Given the description of an element on the screen output the (x, y) to click on. 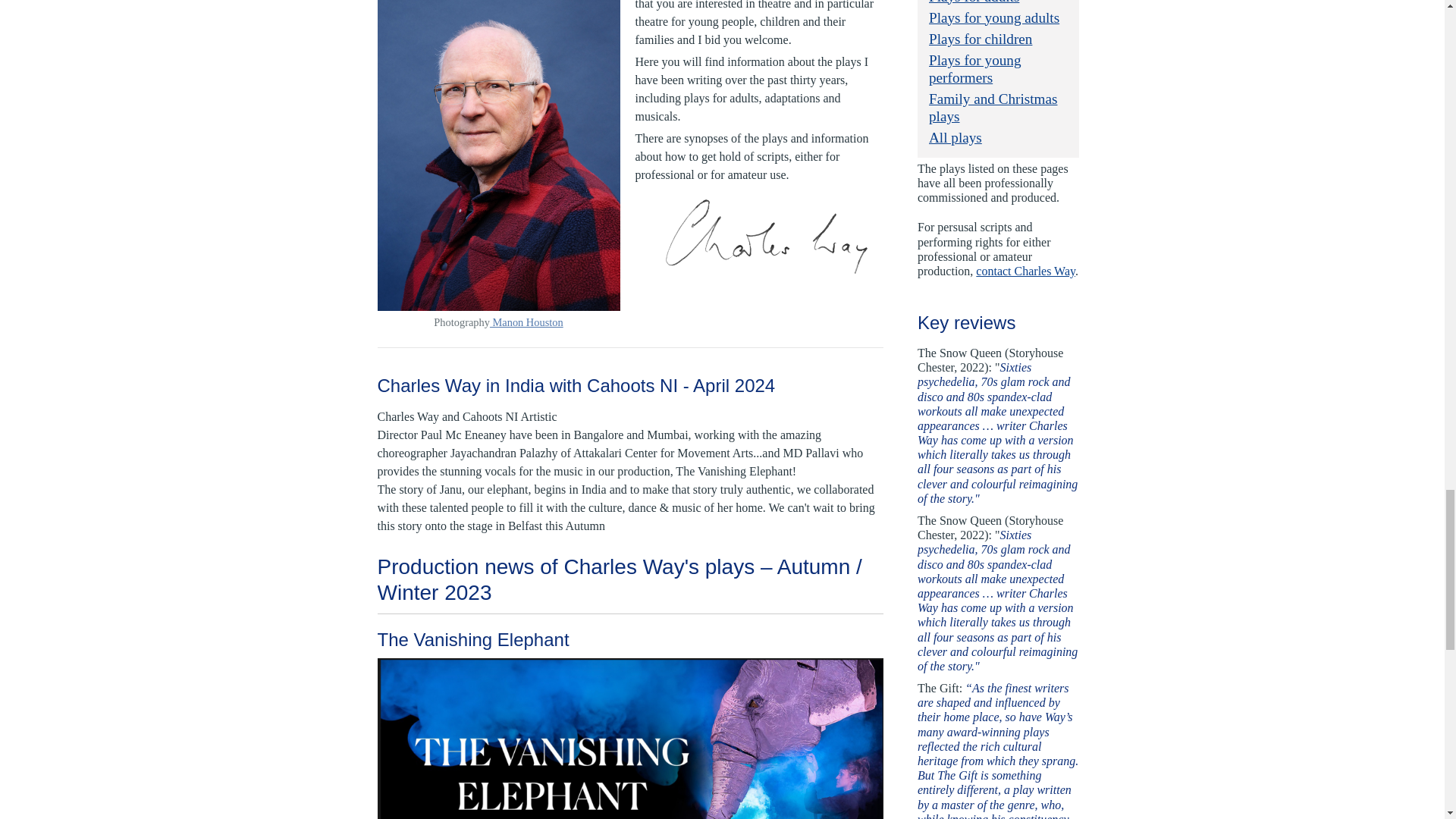
All plays (954, 137)
contact Charles Way (1025, 270)
Plays for adults (973, 2)
Plays for young adults (993, 17)
Manon Houston (526, 322)
Plays for children (980, 38)
Plays for young performers (975, 68)
All plays (954, 137)
Plays for young adults (993, 17)
Plays for adults (973, 2)
